Given the description of an element on the screen output the (x, y) to click on. 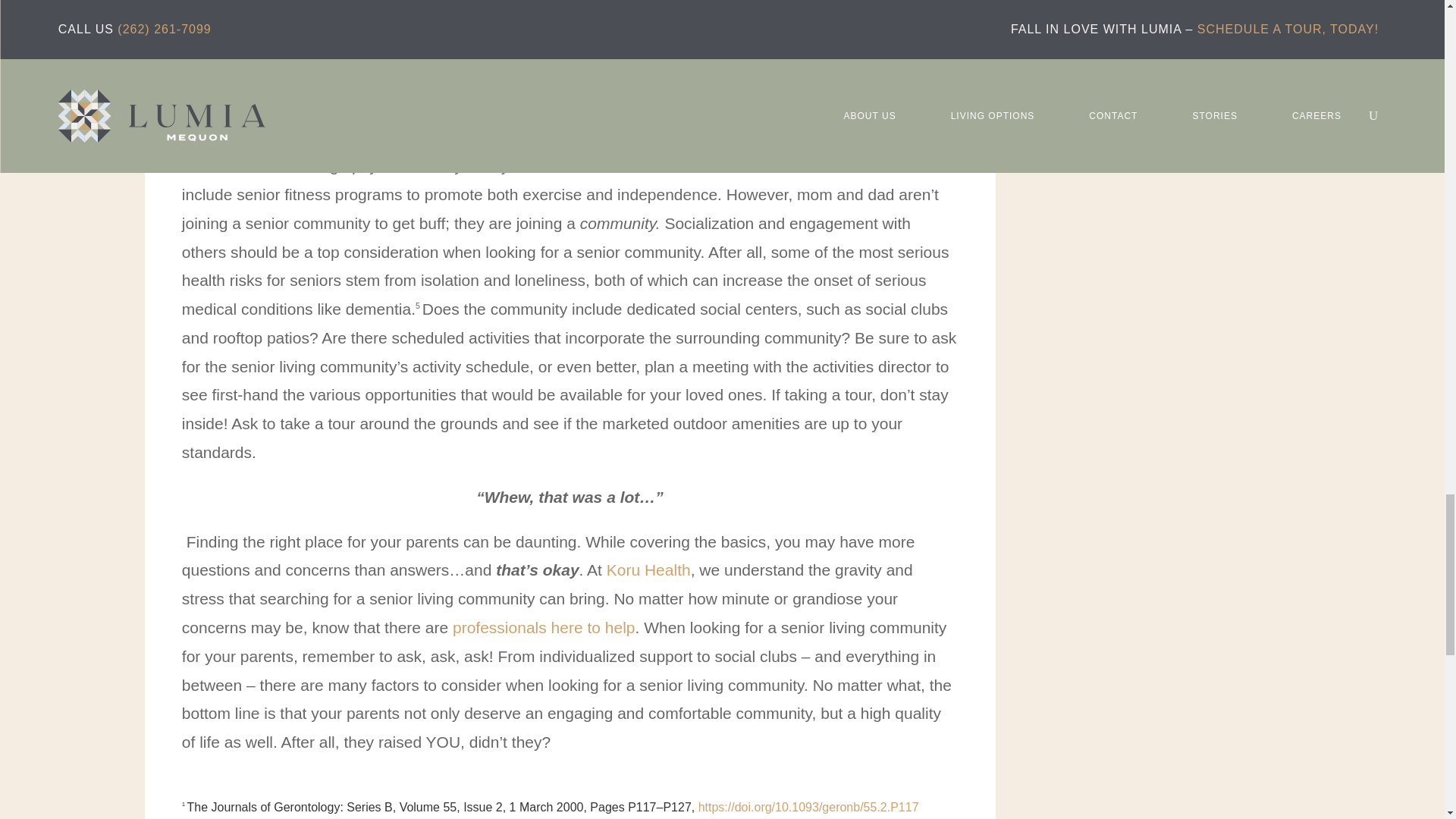
professionals here to help (543, 627)
Koru Health (648, 569)
